Given the description of an element on the screen output the (x, y) to click on. 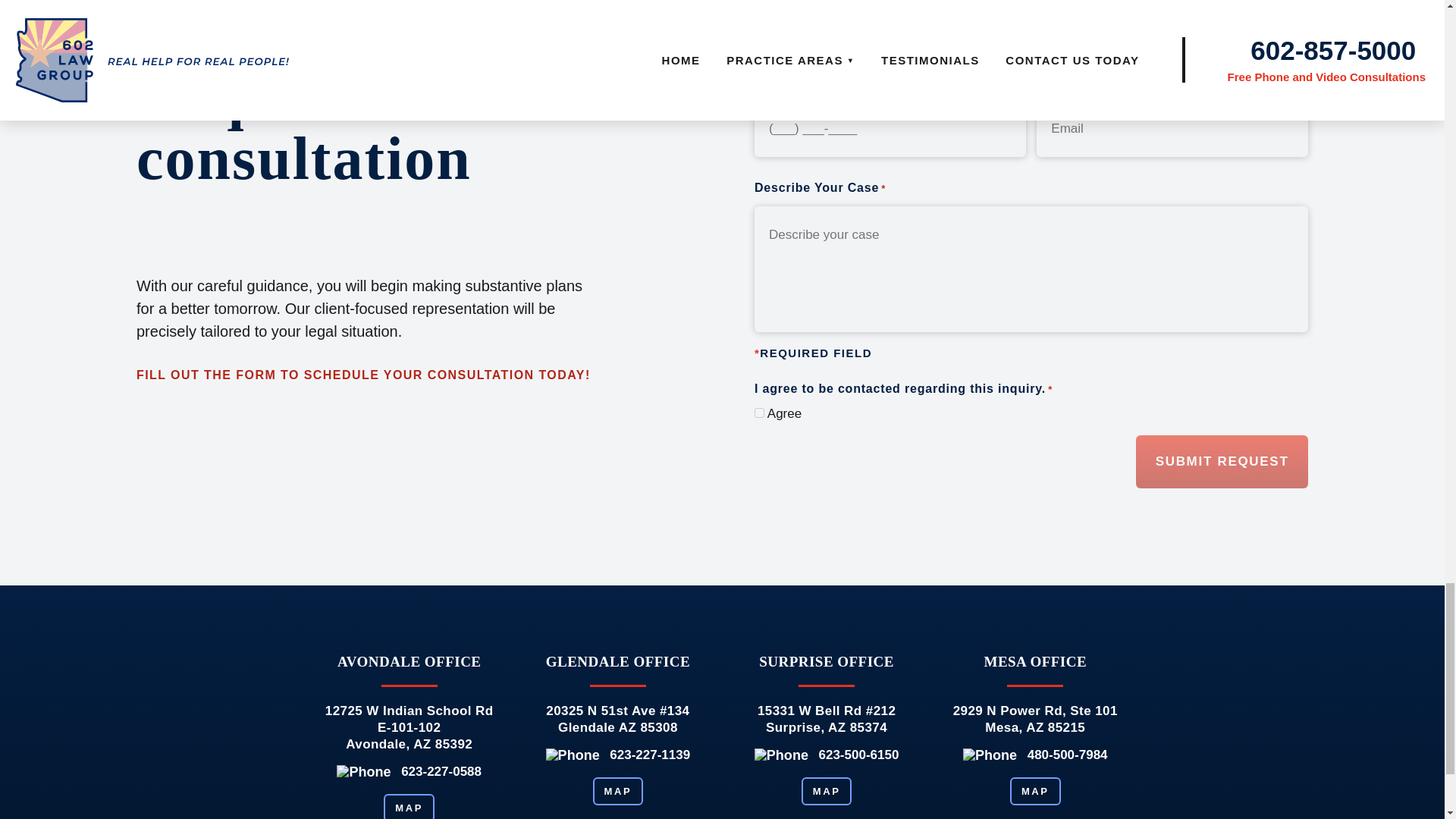
623-227-1139 (650, 754)
MAP (408, 806)
MAP (617, 791)
Submit Request (1221, 461)
480-500-7984 (1067, 754)
Submit Request (1221, 461)
623-500-6150 (858, 754)
1 (759, 412)
MAP (826, 791)
MAP (1035, 791)
623-227-0588 (441, 771)
